Given the description of an element on the screen output the (x, y) to click on. 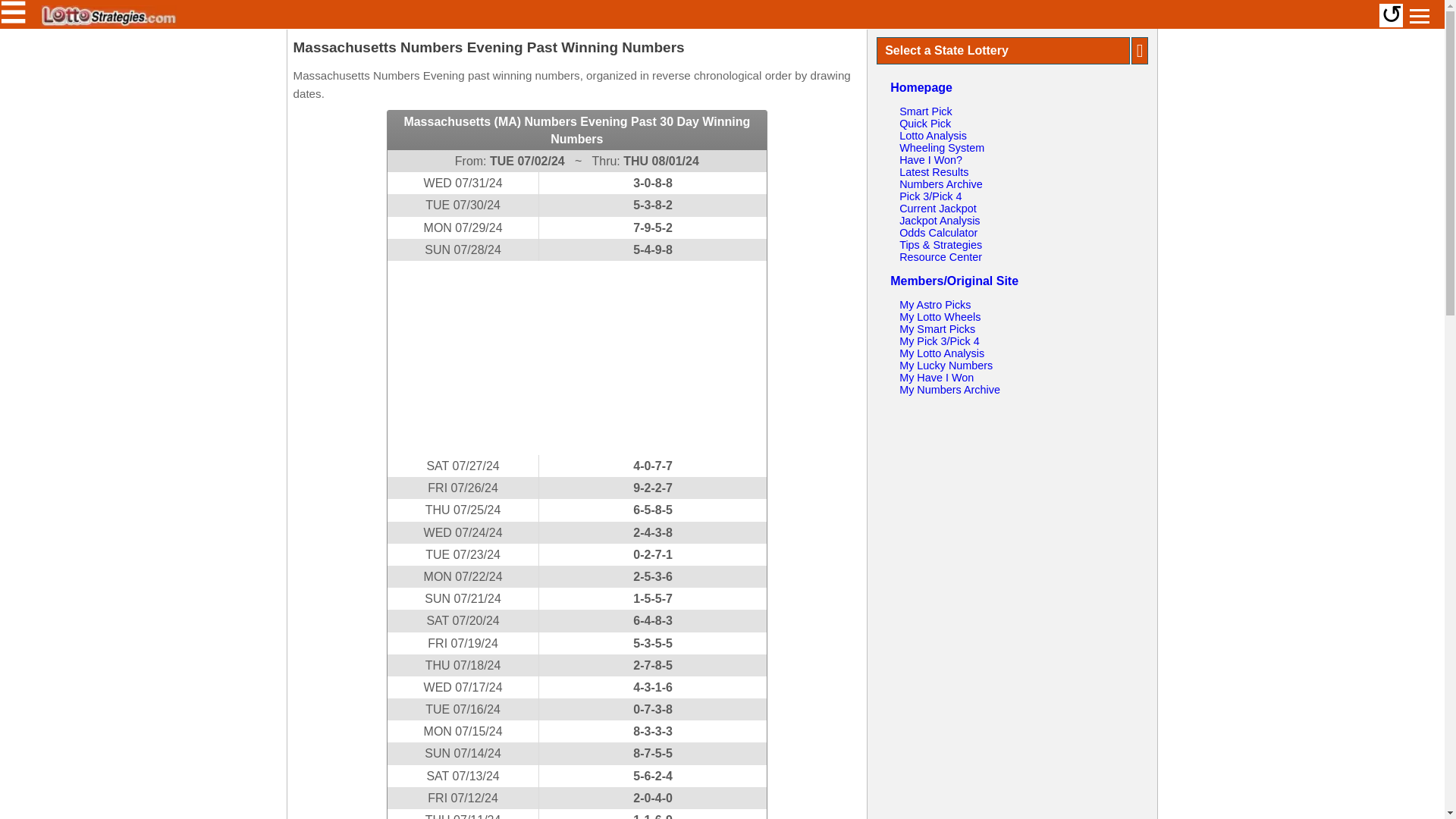
Advertisement (1011, 505)
Advertisement (576, 357)
